Given the description of an element on the screen output the (x, y) to click on. 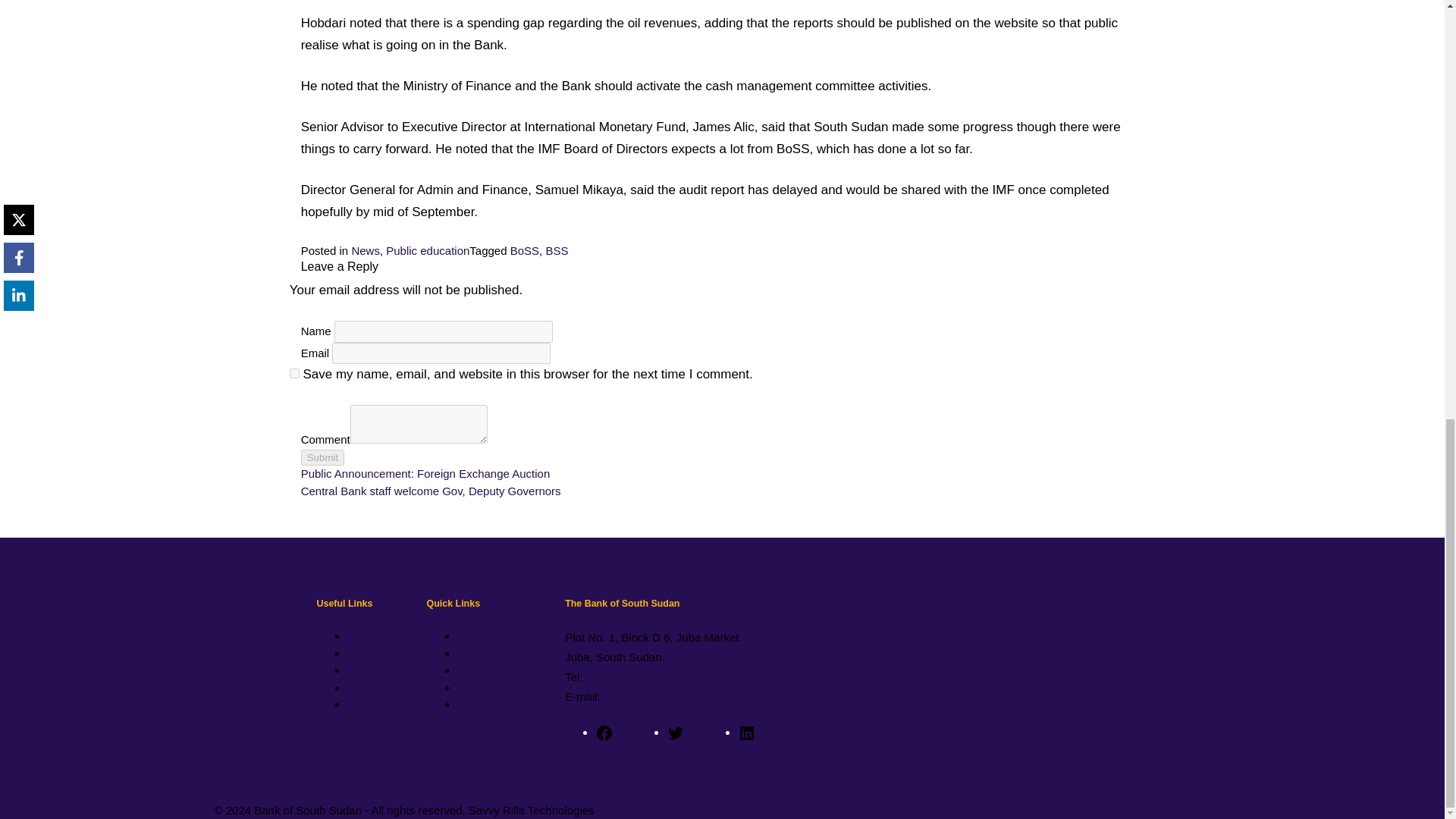
yes (294, 373)
